Given the description of an element on the screen output the (x, y) to click on. 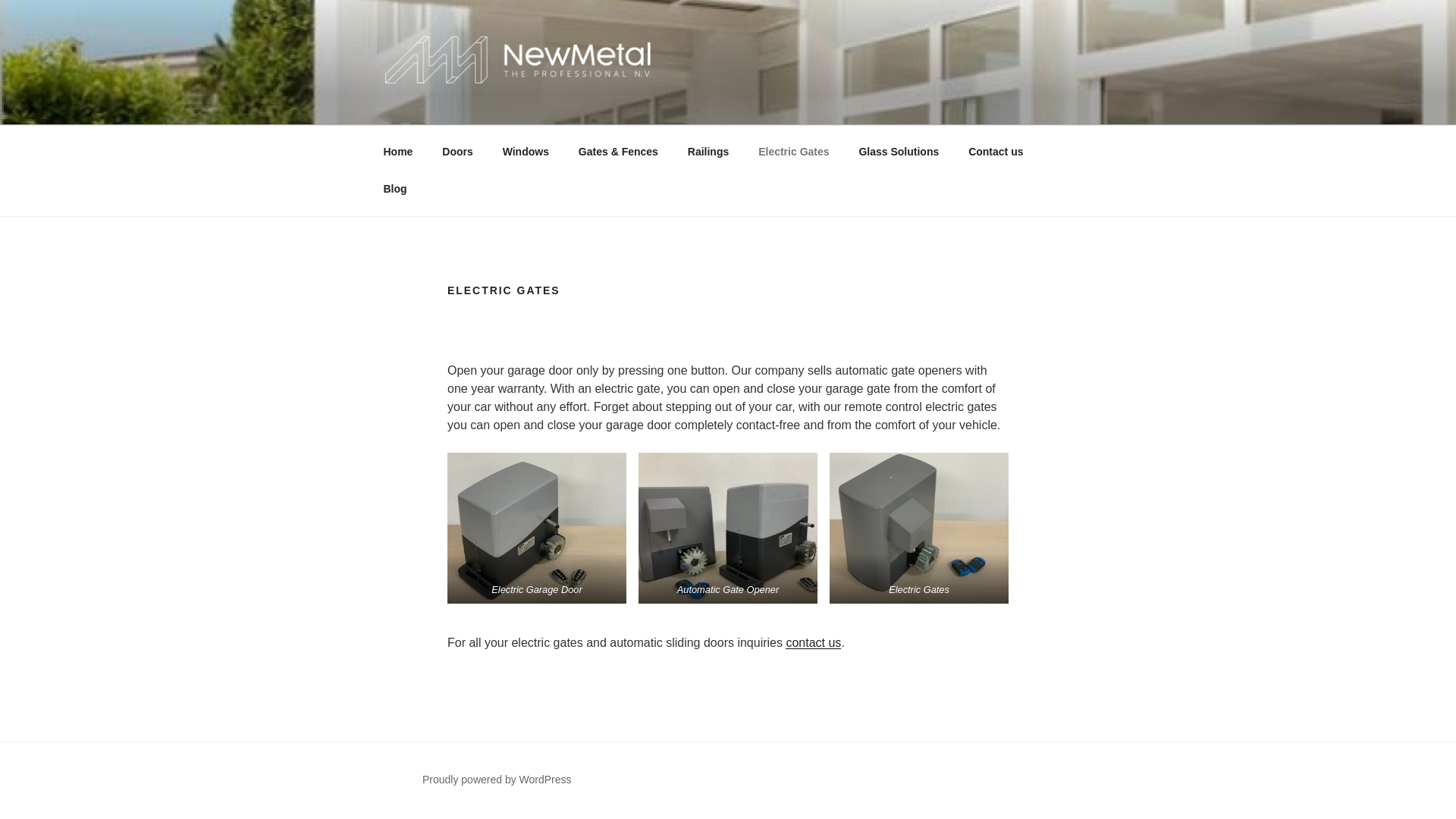
Home (397, 151)
contact us (813, 642)
Railings (707, 151)
Doors (457, 151)
Windows (525, 151)
Proudly powered by WordPress (497, 779)
Electric Gates (794, 151)
Contact us (995, 151)
Blog (394, 189)
Glass Solutions (898, 151)
